Given the description of an element on the screen output the (x, y) to click on. 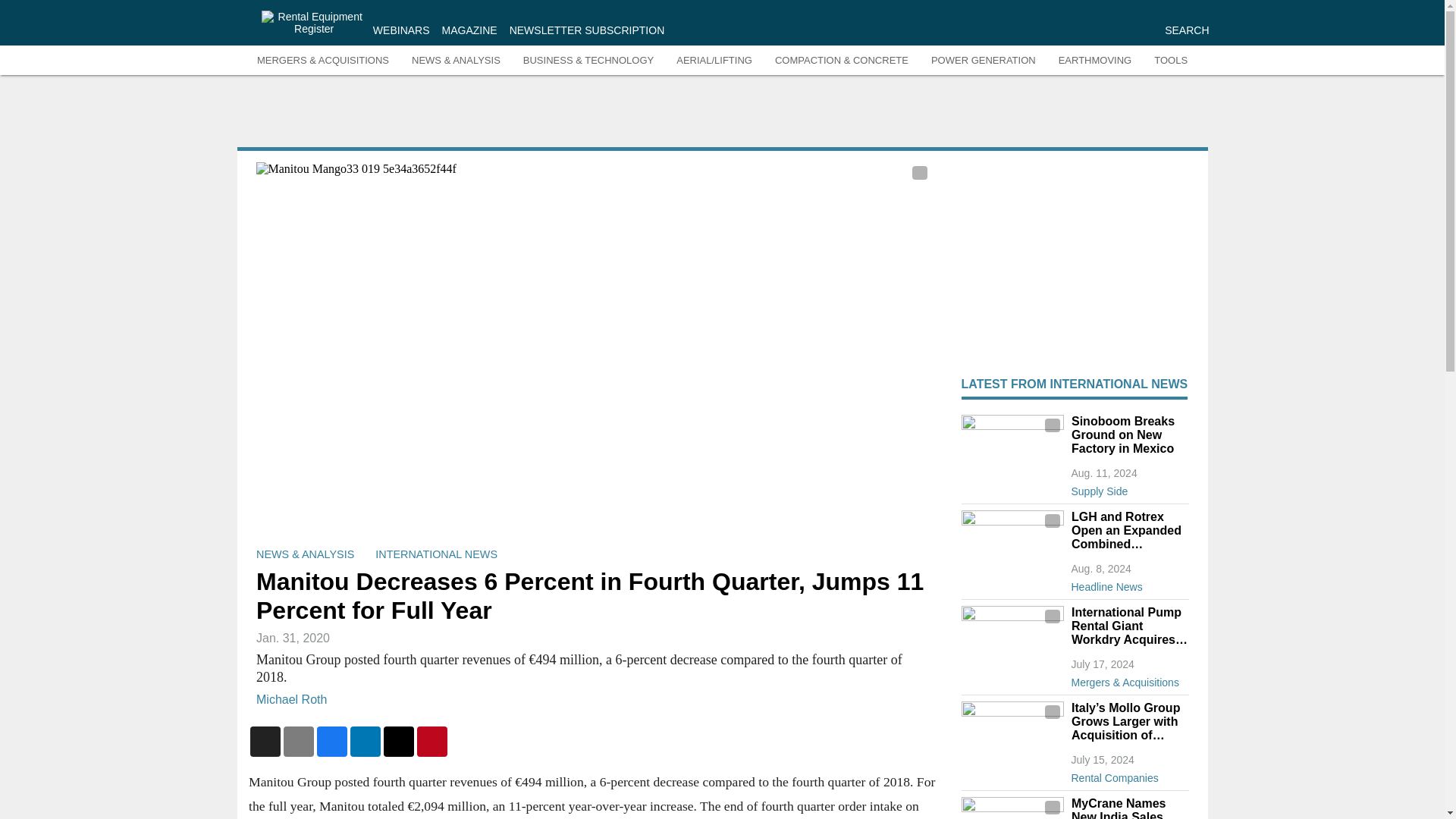
NEWSLETTER SUBSCRIPTION (587, 30)
TOOLS (1171, 60)
SEARCH (1186, 30)
Sinoboom Breaks Ground on New Factory in Mexico (1129, 434)
Supply Side (1129, 488)
EARTHMOVING (1095, 60)
INTERNATIONAL NEWS (436, 553)
Headline News (1129, 583)
